Given the description of an element on the screen output the (x, y) to click on. 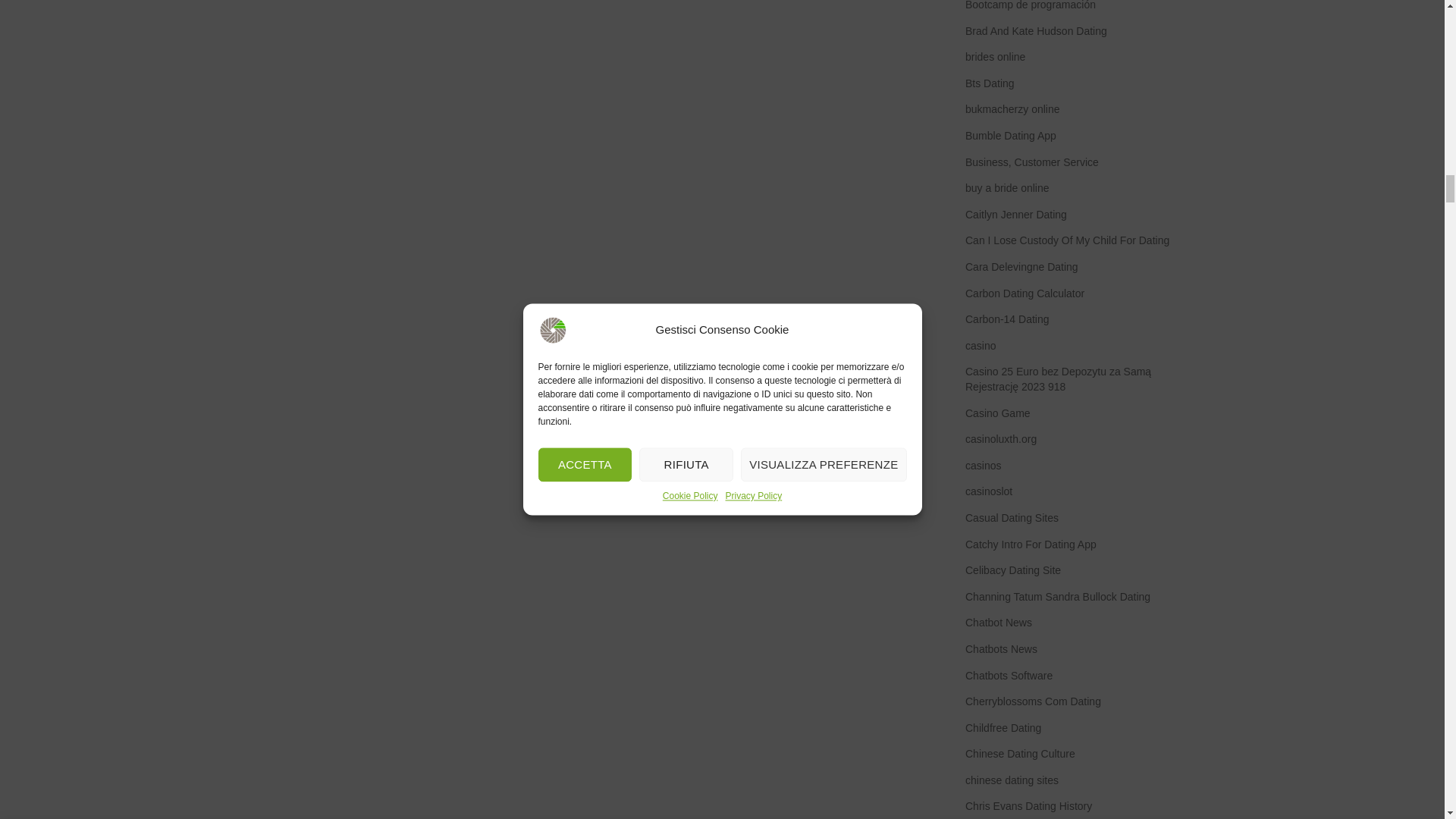
Business, Customer Service (1032, 162)
